Given the description of an element on the screen output the (x, y) to click on. 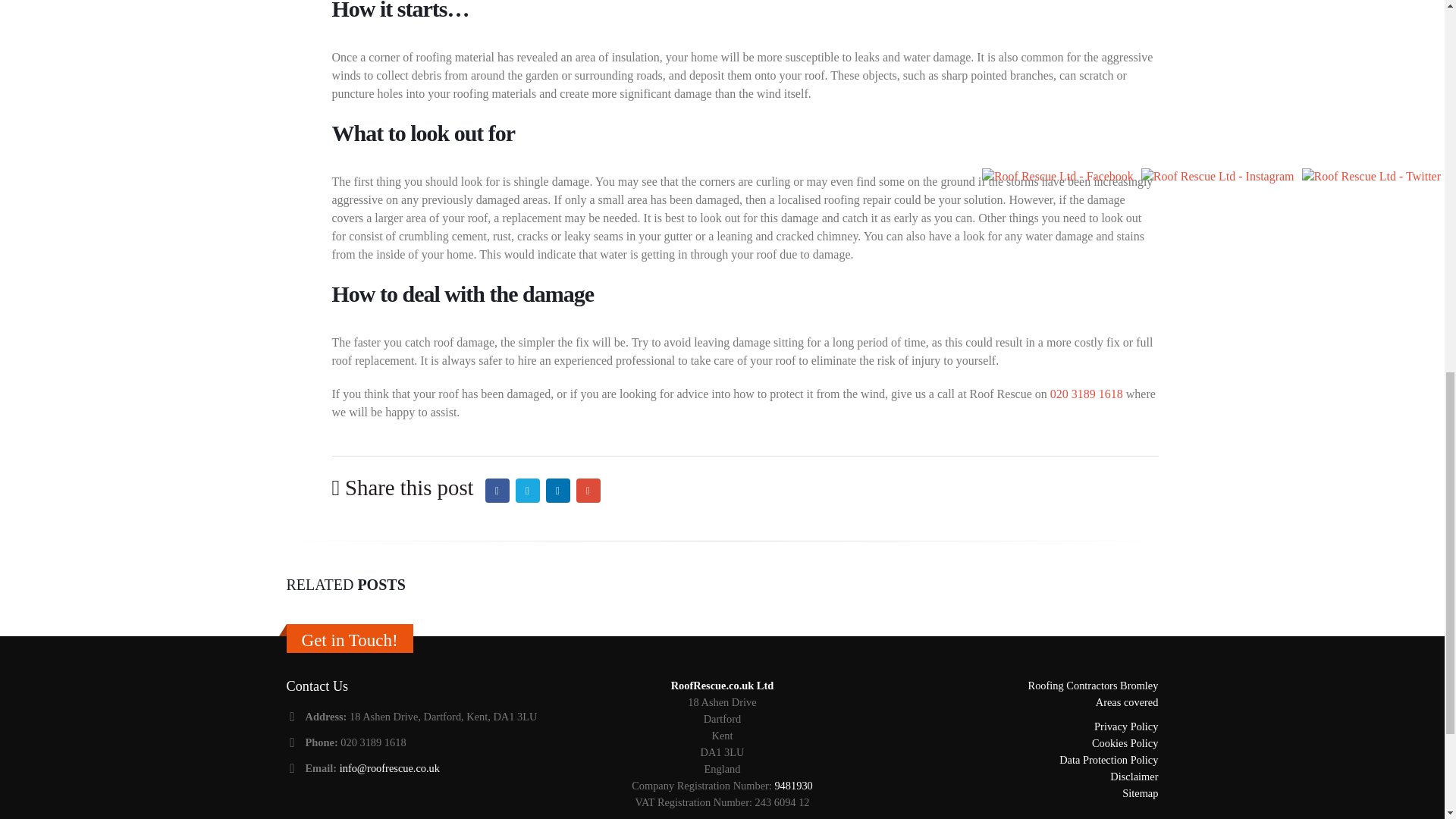
Facebook (496, 490)
Roofing Contractors Bromley (1092, 685)
Twitter (527, 490)
Email (587, 490)
LinkedIn (558, 490)
